Given the description of an element on the screen output the (x, y) to click on. 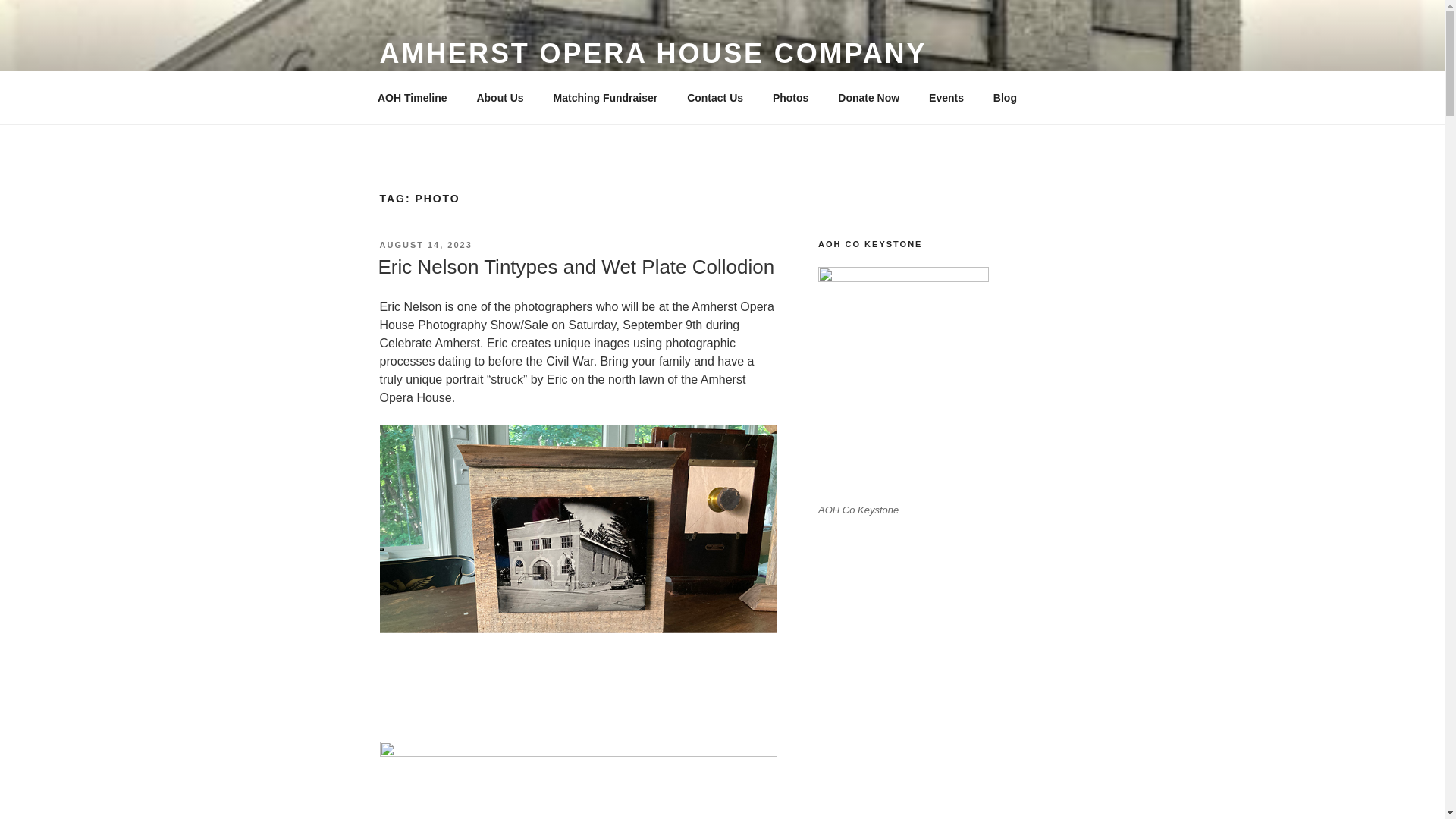
About Us (500, 97)
AOH Timeline (412, 97)
Donate Now (868, 97)
Contact Us (715, 97)
Blog (1004, 97)
Matching Fundraiser (605, 97)
AUGUST 14, 2023 (424, 244)
Events (945, 97)
Photos (789, 97)
Eric Nelson Tintypes and Wet Plate Collodion (575, 266)
